Given the description of an element on the screen output the (x, y) to click on. 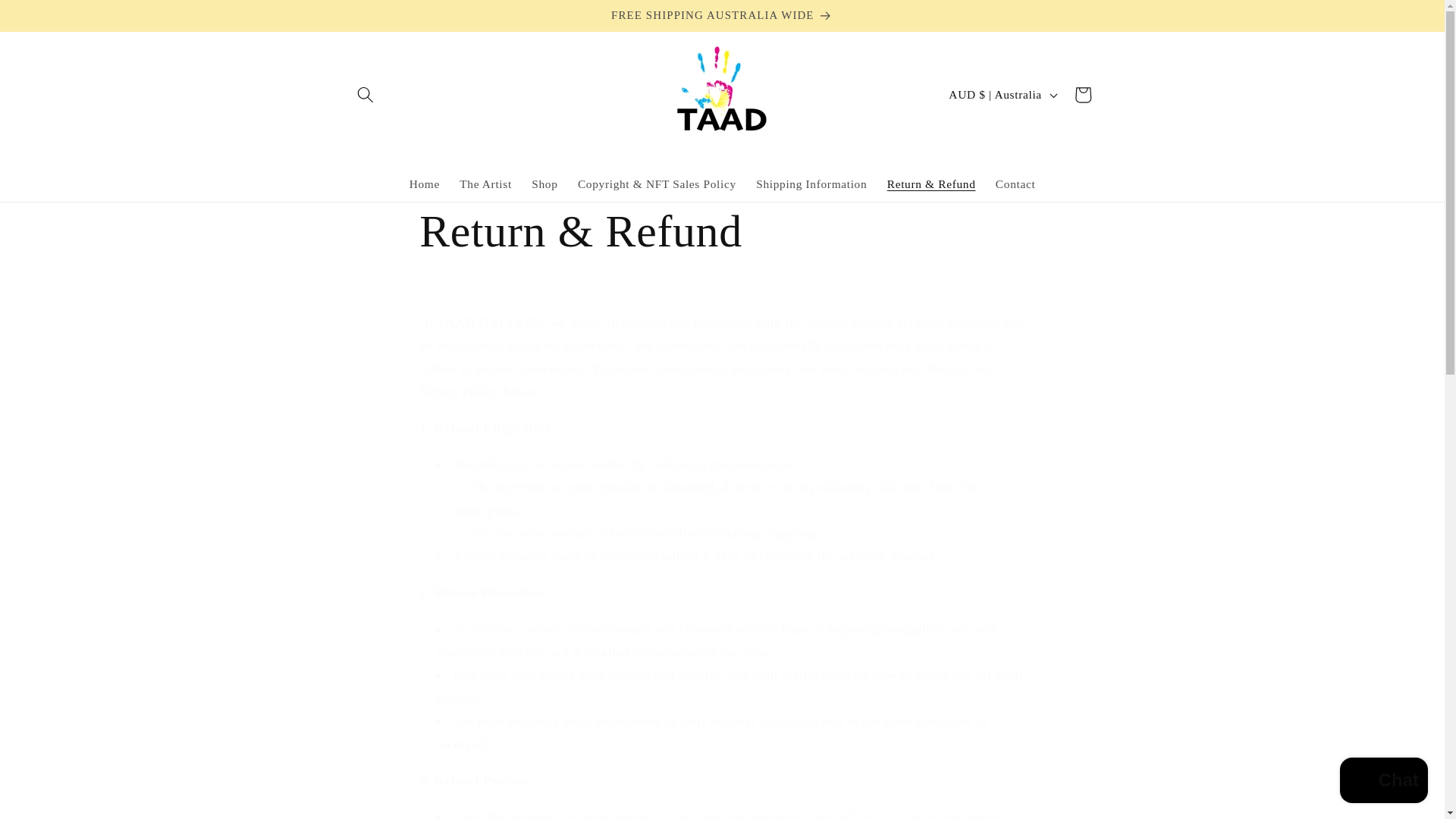
Cart (1082, 94)
Shopify online store chat (1383, 781)
FREE SHIPPING AUSTRALIA WIDE (722, 15)
Shipping Information (811, 184)
Skip to content (50, 19)
Contact (1015, 184)
Shop (544, 184)
Home (423, 184)
The Artist (485, 184)
